Given the description of an element on the screen output the (x, y) to click on. 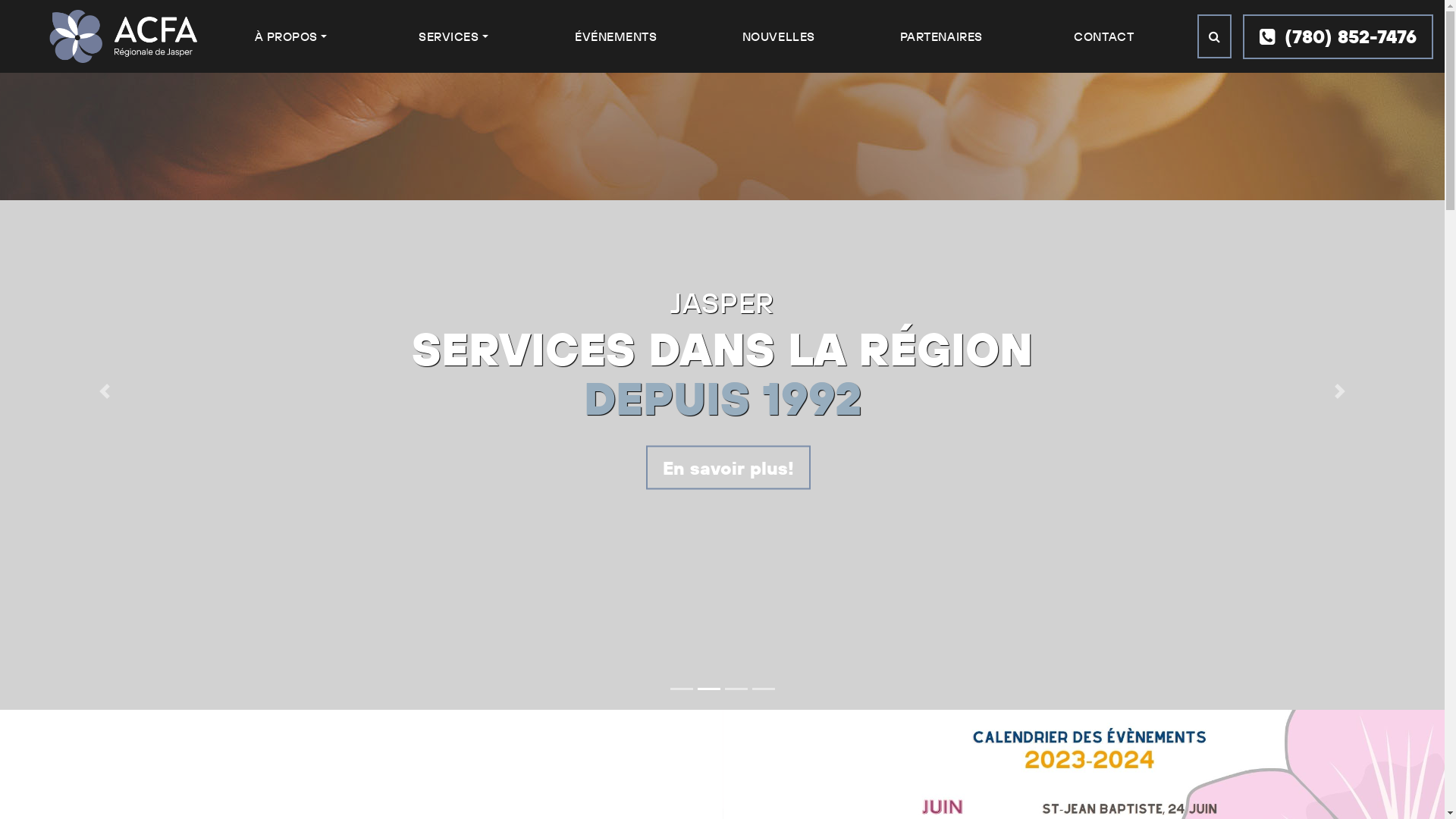
CONTACT Element type: text (1103, 36)
Search Element type: hover (1214, 36)
PARTENAIRES Element type: text (941, 36)
SERVICES Element type: text (453, 36)
NOUVELLES Element type: text (778, 36)
En savoir plus! Element type: text (841, 467)
(780) 852-7476 Element type: text (1337, 35)
